Given the description of an element on the screen output the (x, y) to click on. 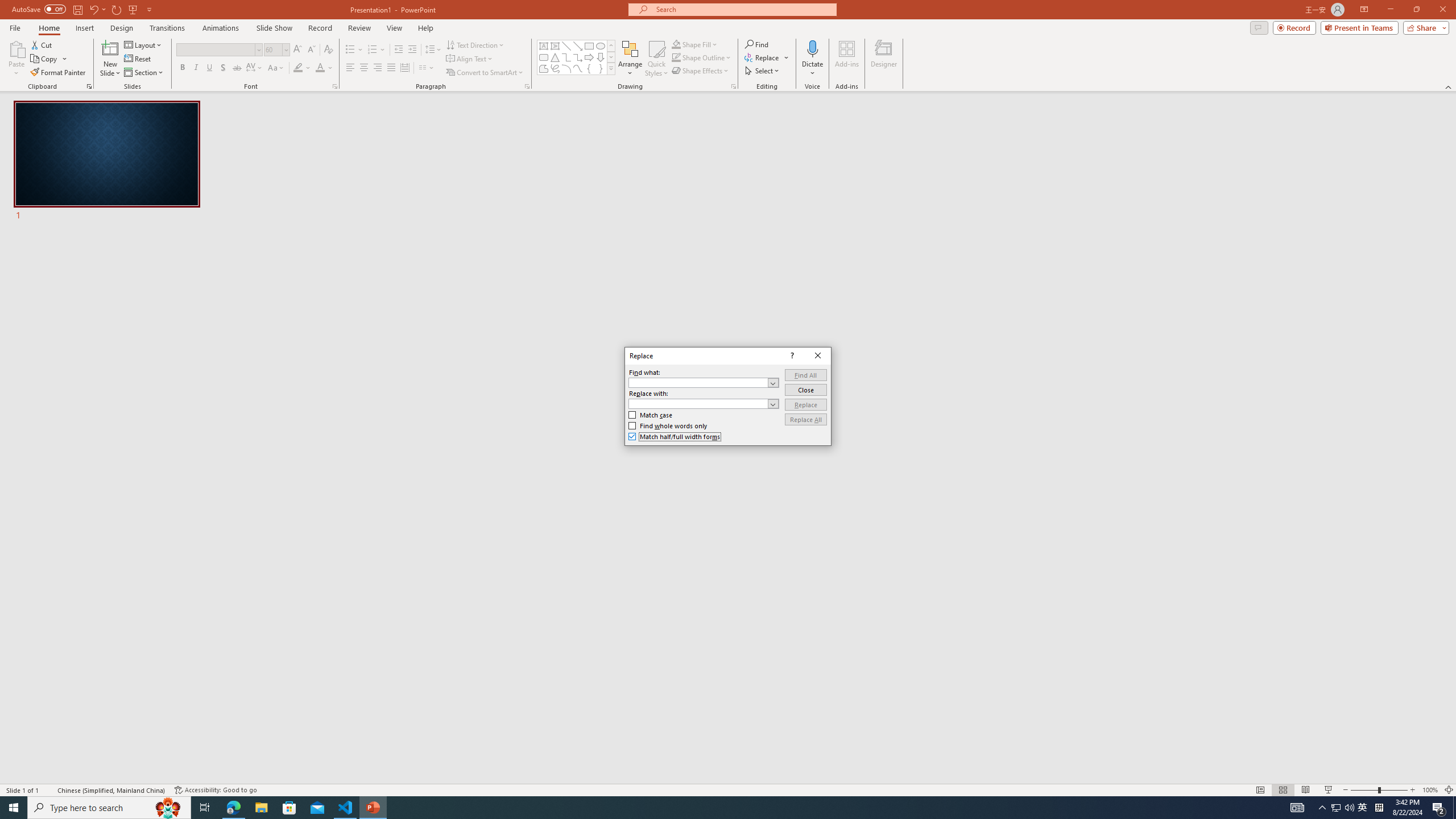
Match case (650, 414)
Shape Outline Blue, Accent 1 (675, 56)
Zoom 100% (1430, 790)
